Given the description of an element on the screen output the (x, y) to click on. 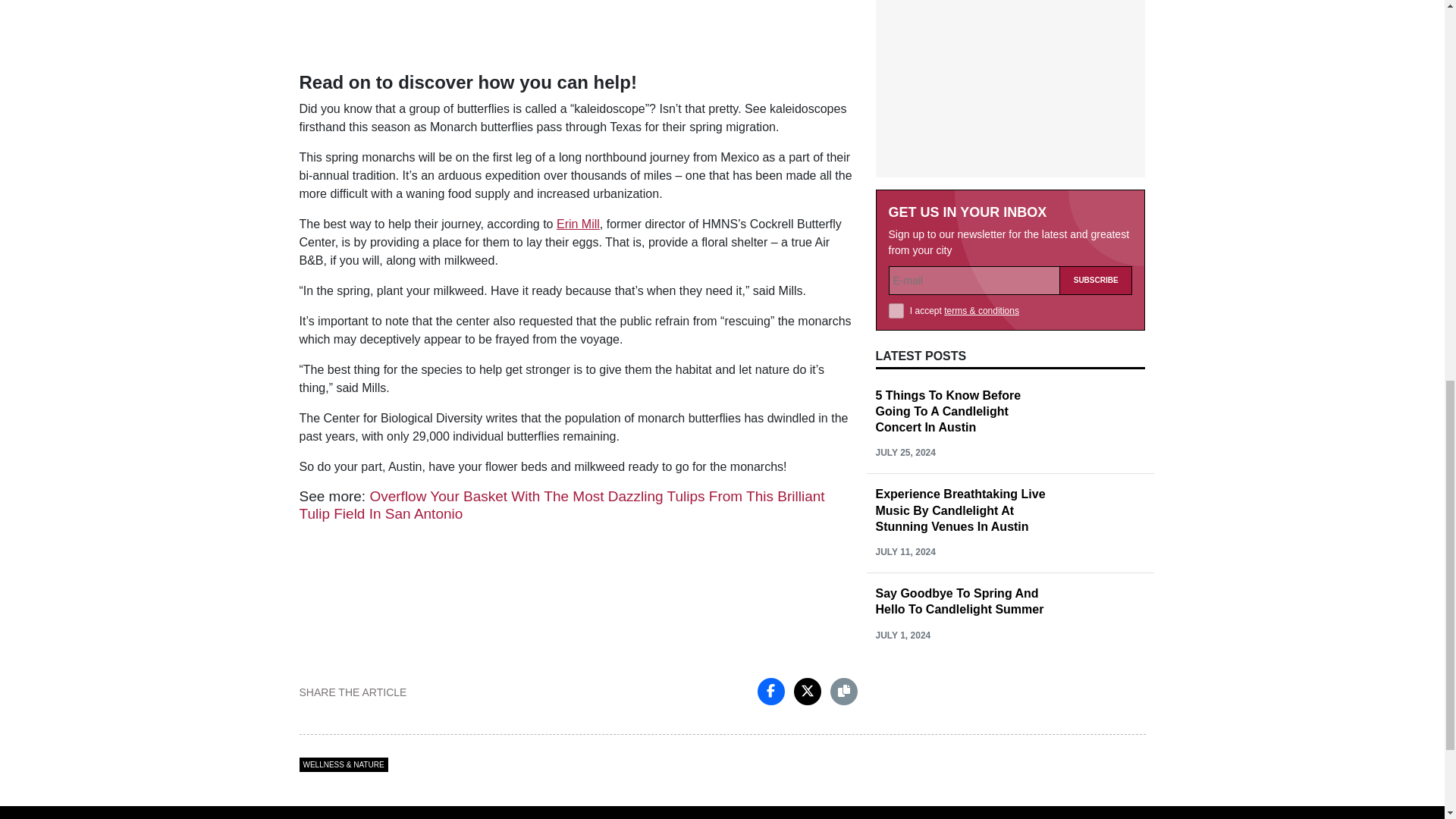
Subscribe (1095, 280)
JULY 11, 2024 (904, 552)
Erin Mill (577, 223)
Say Goodbye To Spring And Hello To Candlelight Summer (959, 601)
1 (896, 310)
JULY 1, 2024 (902, 634)
JULY 25, 2024 (904, 452)
Subscribe (1095, 280)
